Given the description of an element on the screen output the (x, y) to click on. 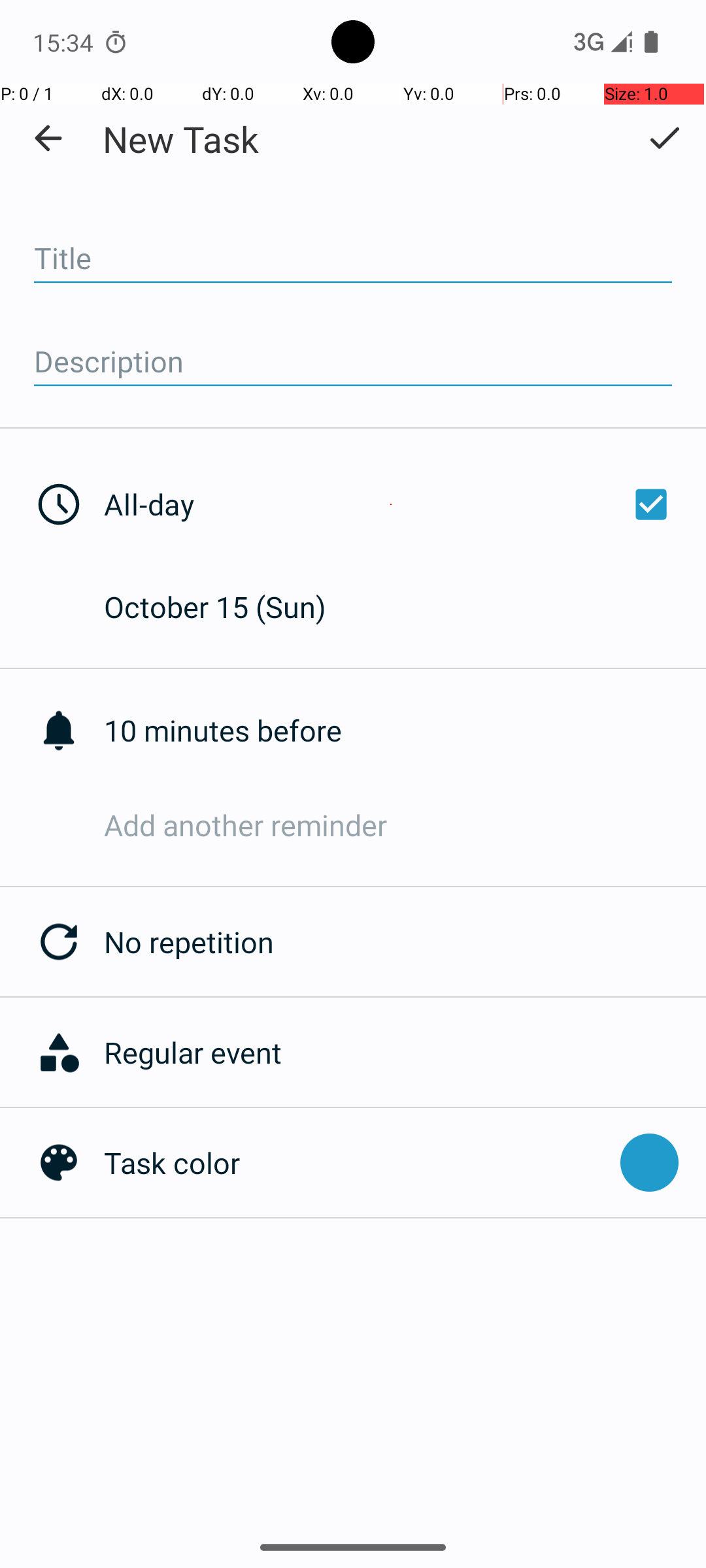
New Task Element type: android.widget.TextView (180, 138)
Task color Element type: android.widget.TextView (354, 1162)
